Given the description of an element on the screen output the (x, y) to click on. 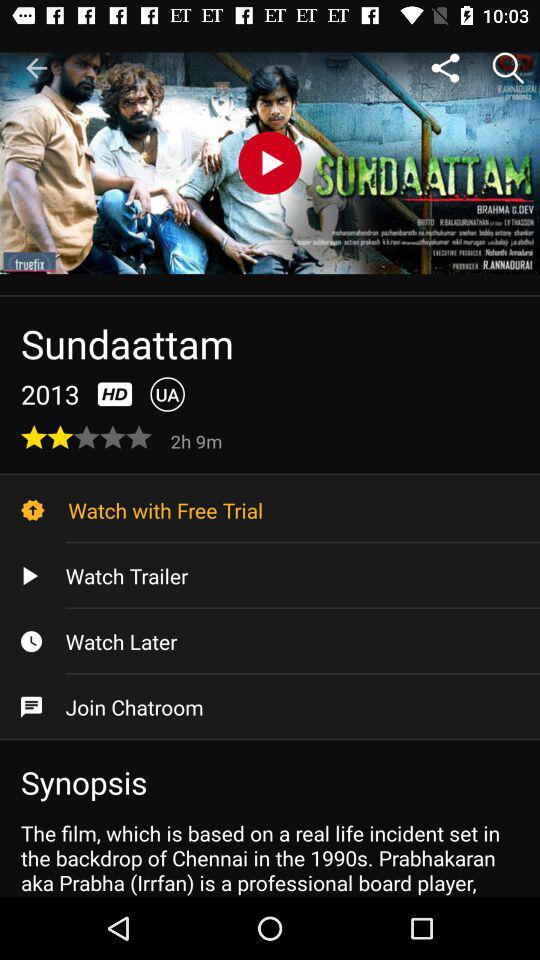
press the watch with free (270, 510)
